Given the description of an element on the screen output the (x, y) to click on. 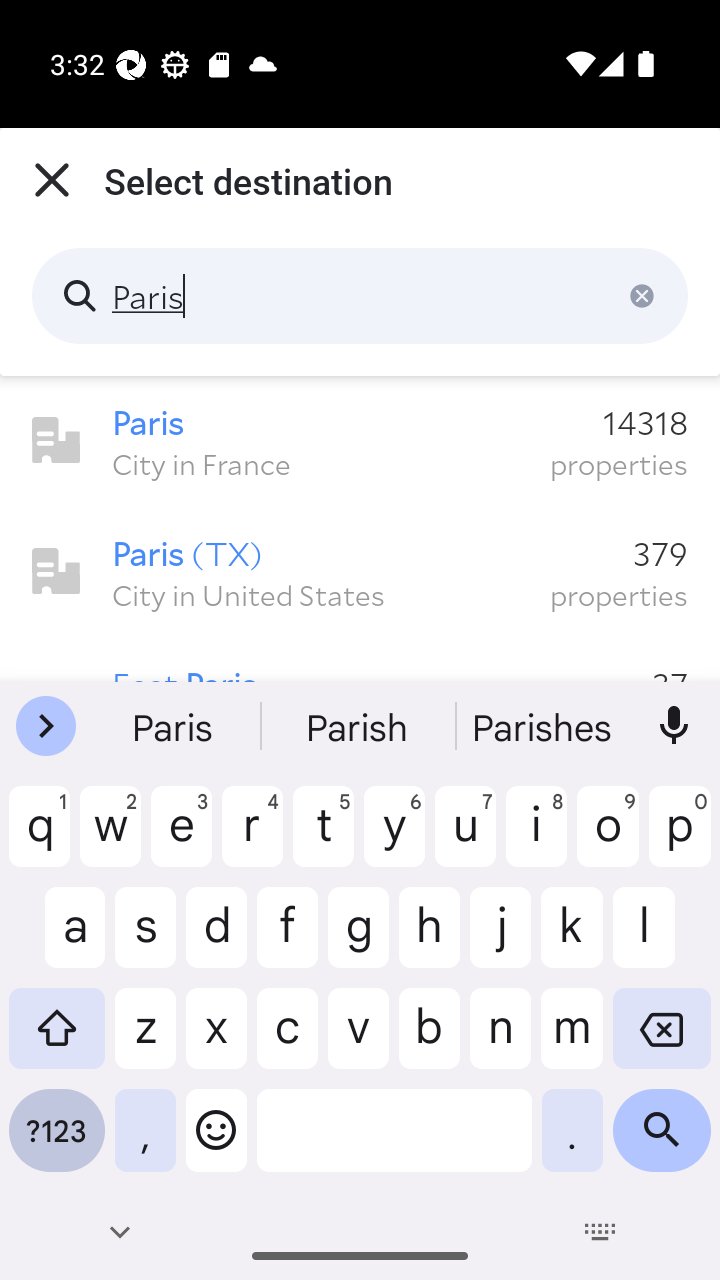
Paris (359, 296)
Paris 14318 City in France properties (360, 441)
Paris (TX) 379 City in United States properties (360, 571)
